Given the description of an element on the screen output the (x, y) to click on. 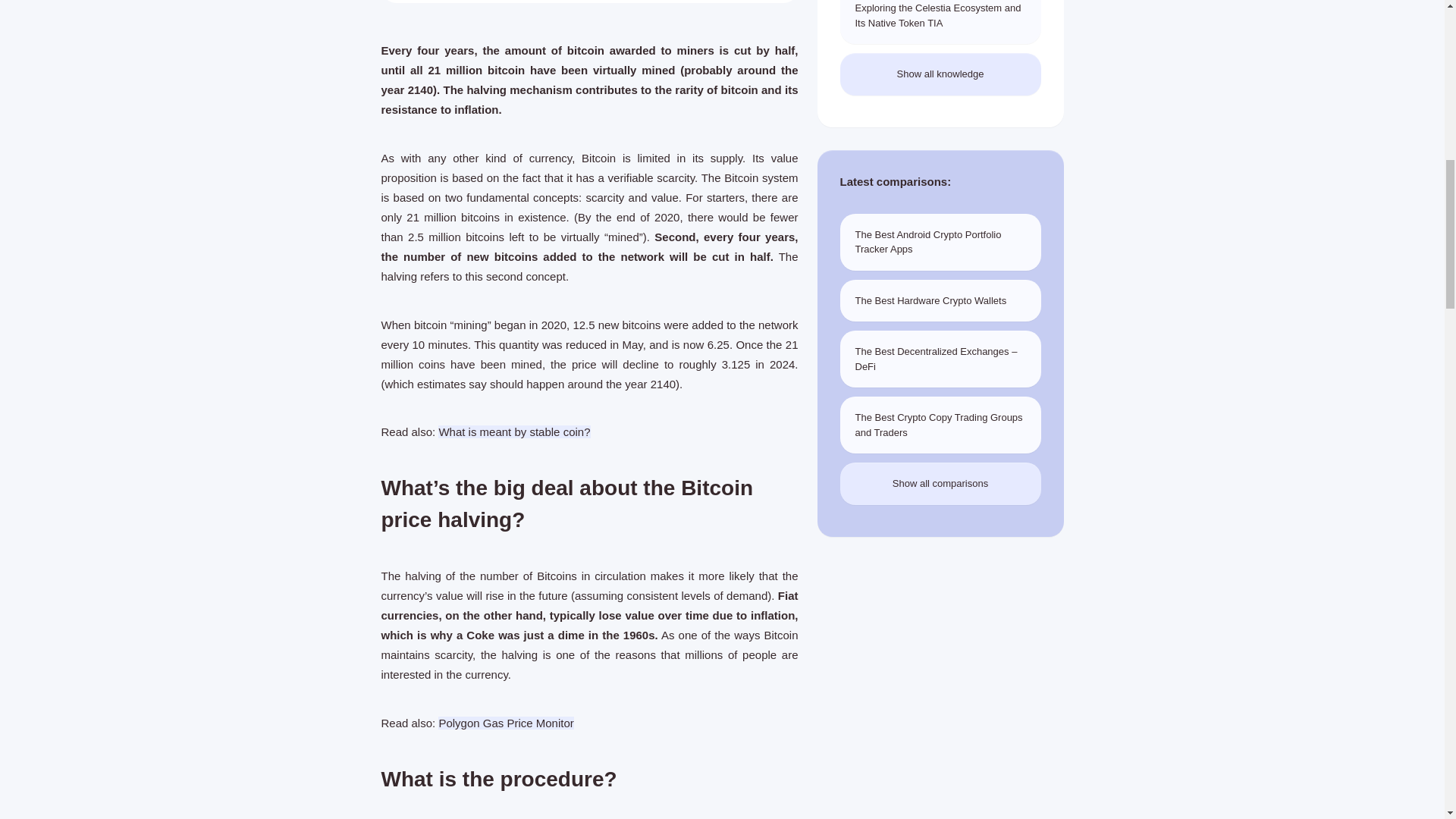
Polygon Gas Price Monitor (505, 722)
What is meant by stable coin? (513, 431)
Show all knowledge (940, 74)
What is meant by stable coin? (513, 431)
Polygon Gas Price Monitor (505, 722)
Exploring the Celestia Ecosystem and Its Native Token TIA (940, 22)
The Best Android Crypto Portfolio Tracker Apps (940, 242)
The Best Hardware Crypto Wallets (940, 301)
